Given the description of an element on the screen output the (x, y) to click on. 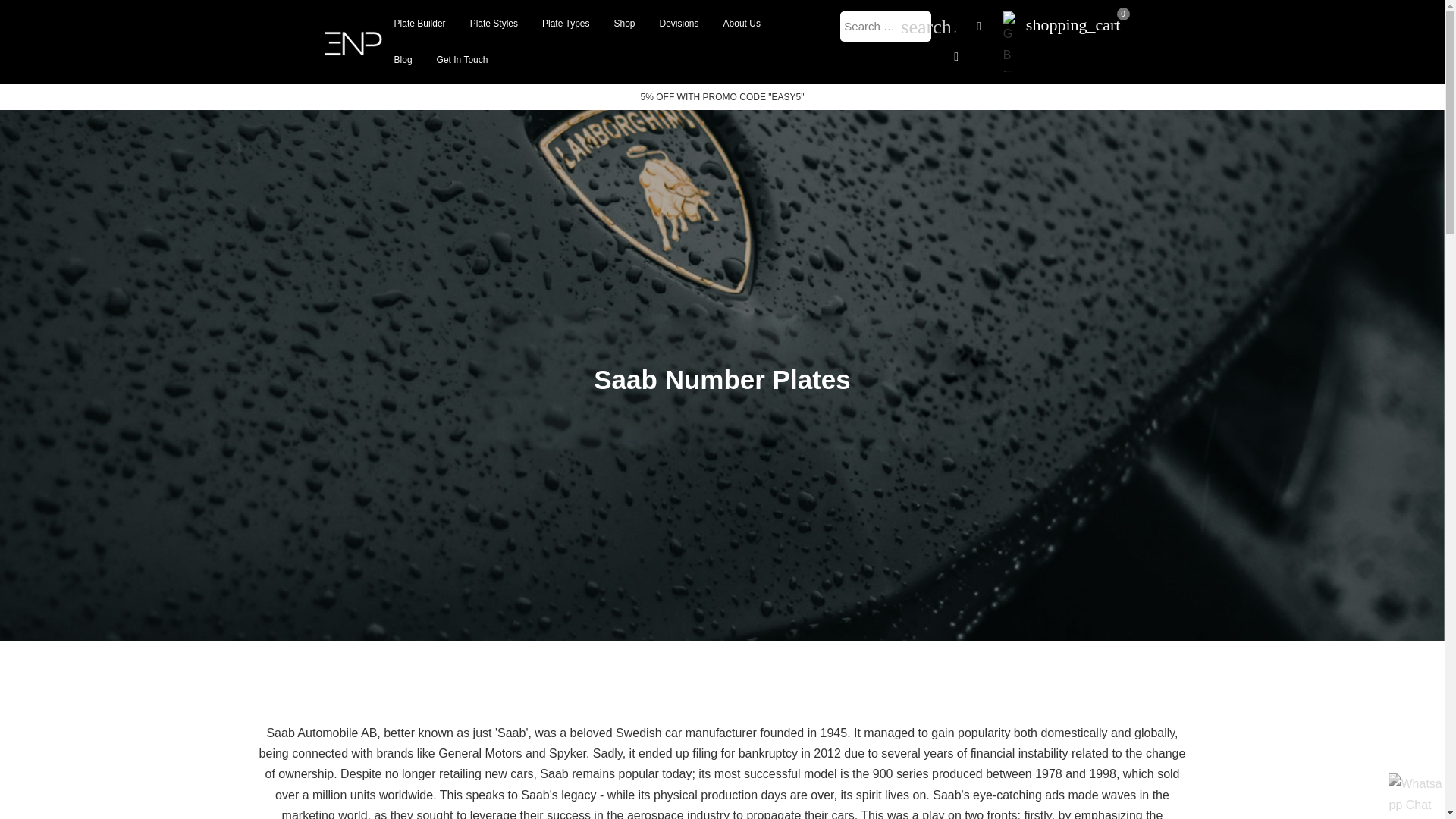
View your shopping Basket (1073, 23)
Search for: (885, 26)
Plate Styles (493, 22)
Plate Builder (419, 22)
